Given the description of an element on the screen output the (x, y) to click on. 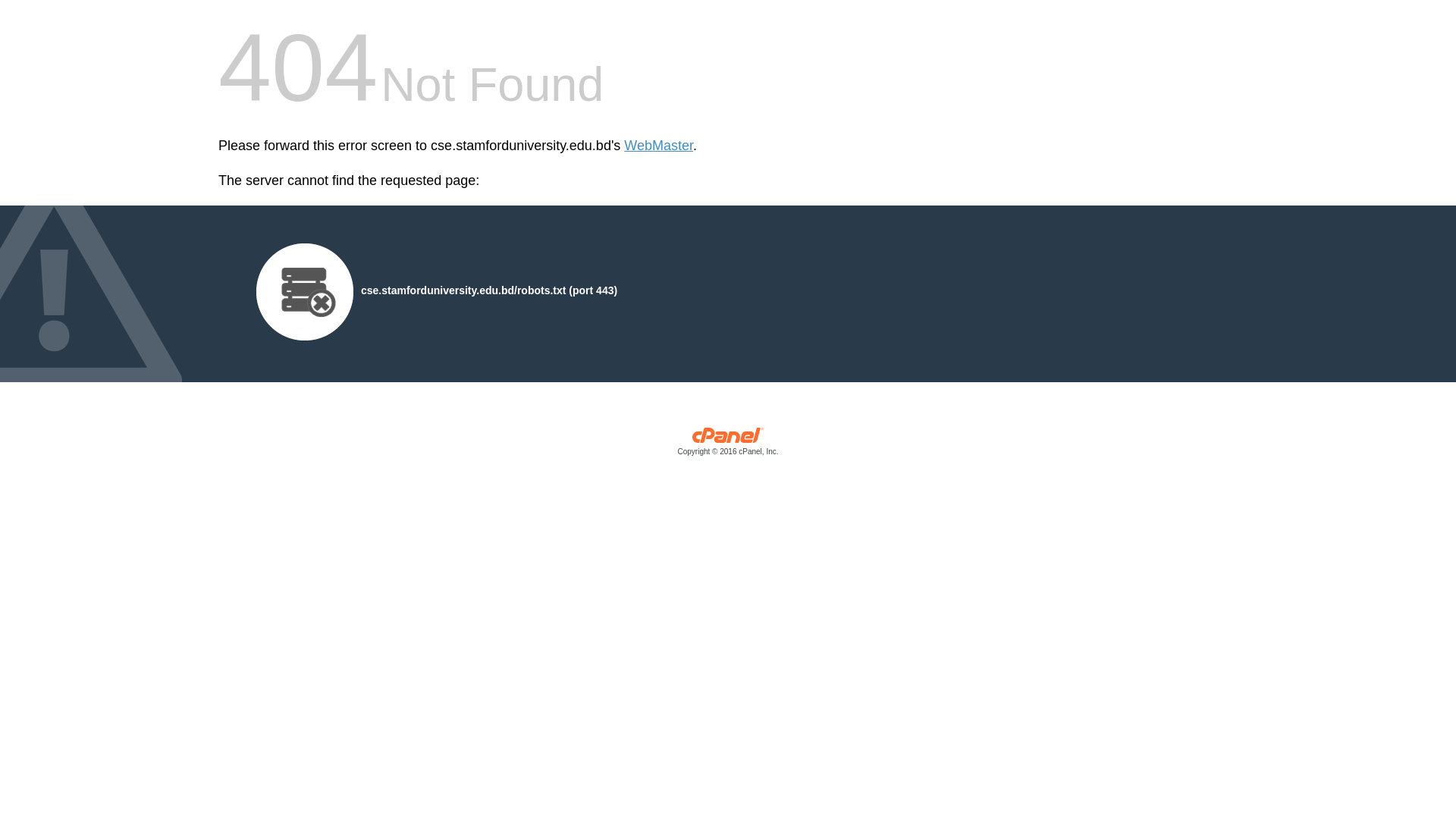
WebMaster Element type: text (658, 145)
